Given the description of an element on the screen output the (x, y) to click on. 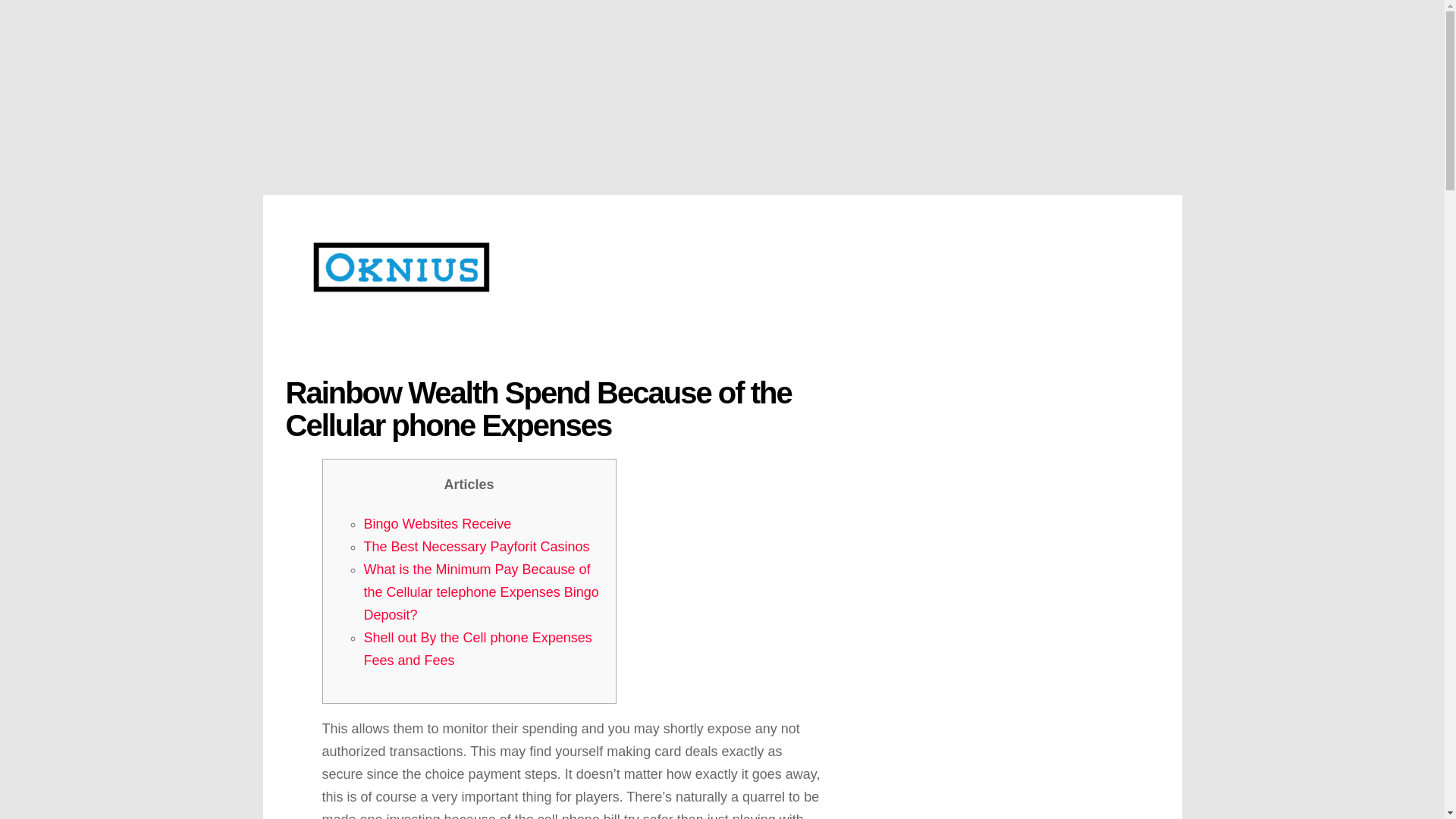
The Best Necessary Payforit Casinos (476, 546)
Shell out By the Cell phone Expenses Fees and Fees (478, 648)
Bingo Websites Receive (438, 523)
